Given the description of an element on the screen output the (x, y) to click on. 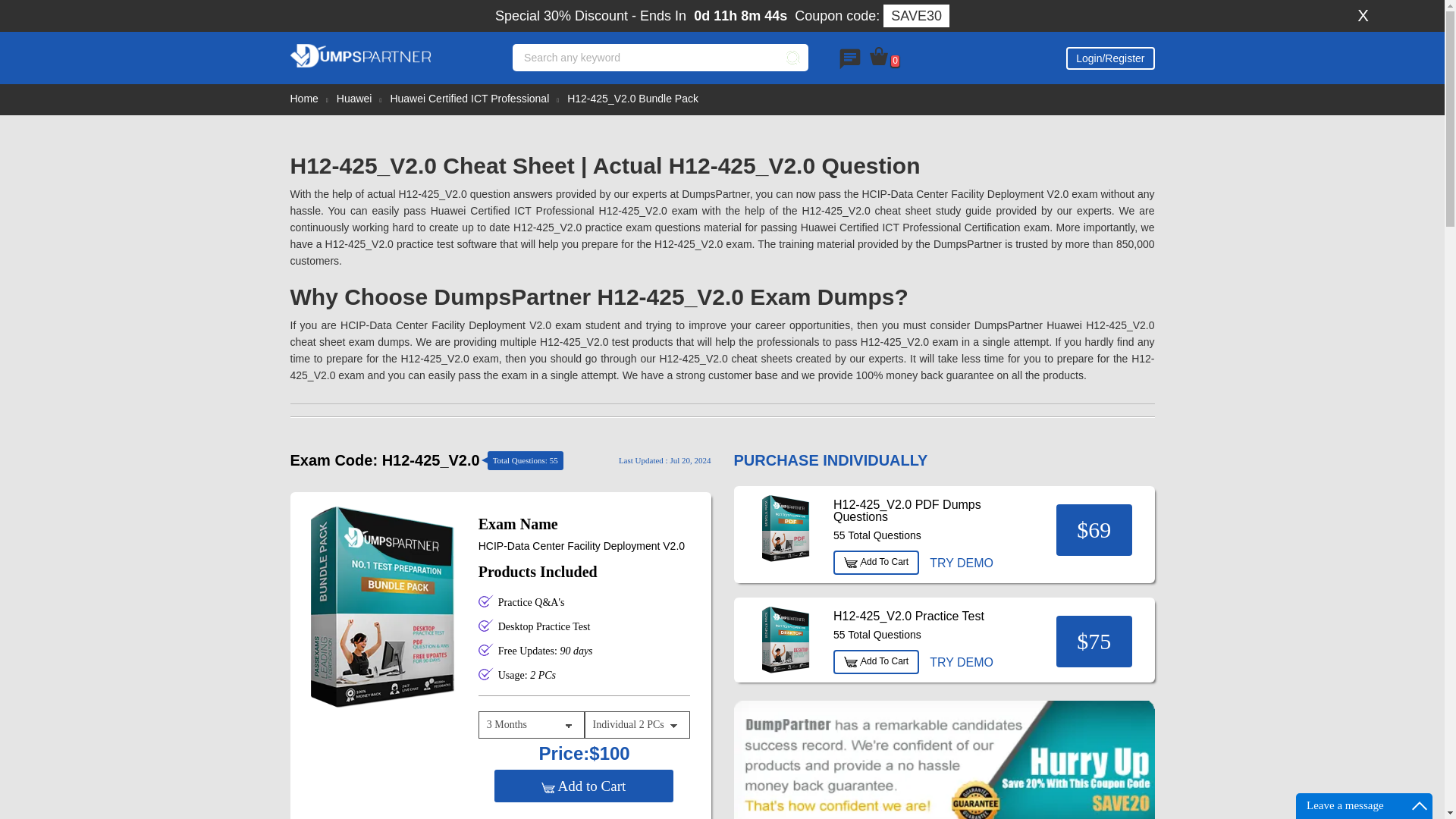
TRY DEMO (960, 563)
Maximize (1419, 805)
Huawei (354, 98)
Home (303, 98)
Add To Cart (875, 662)
Add To Cart (875, 562)
TRY DEMO (960, 662)
Huawei Certified ICT Professional (469, 98)
0 (884, 55)
Add to Cart (583, 786)
